Given the description of an element on the screen output the (x, y) to click on. 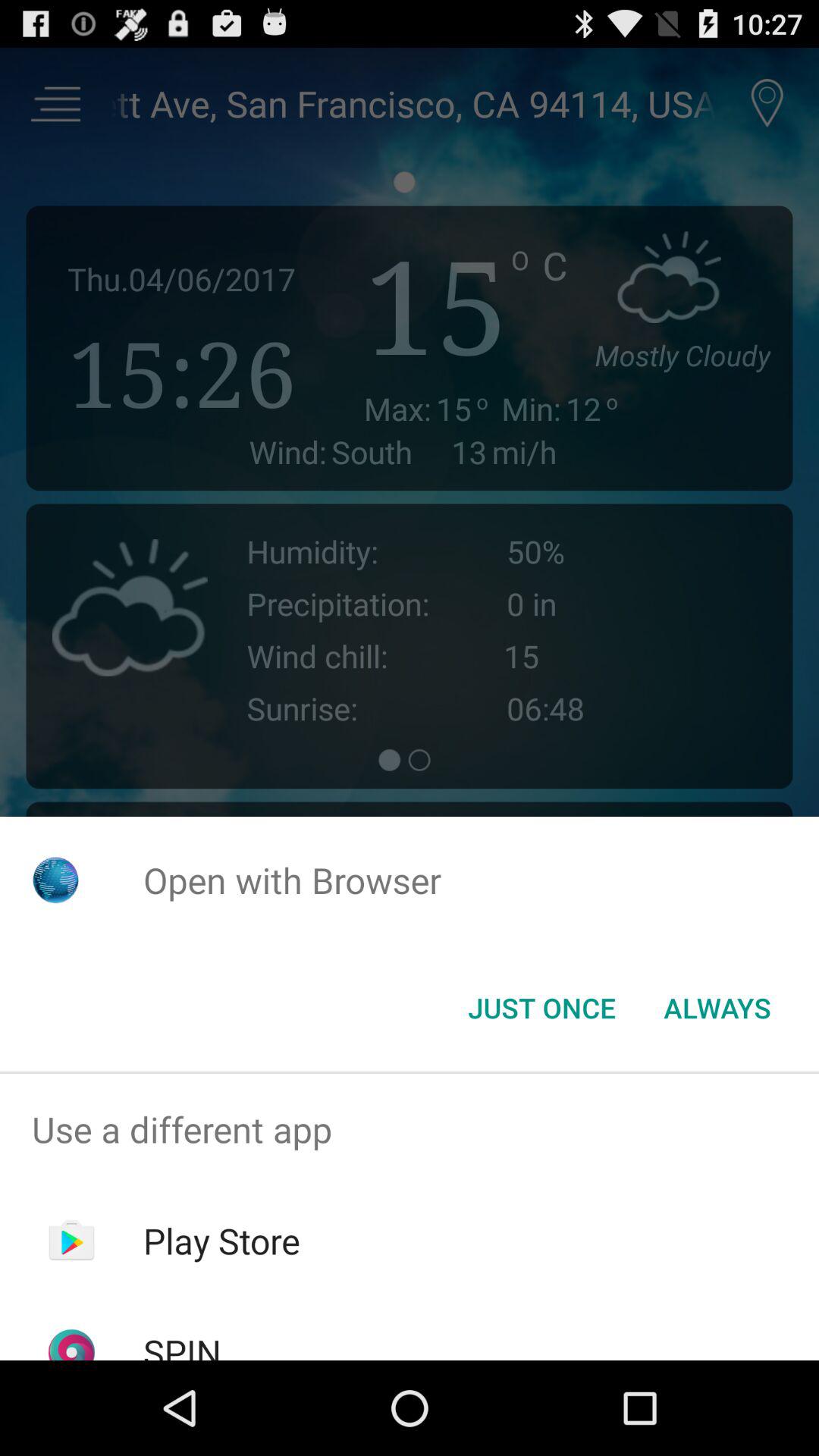
swipe to the spin app (182, 1344)
